Given the description of an element on the screen output the (x, y) to click on. 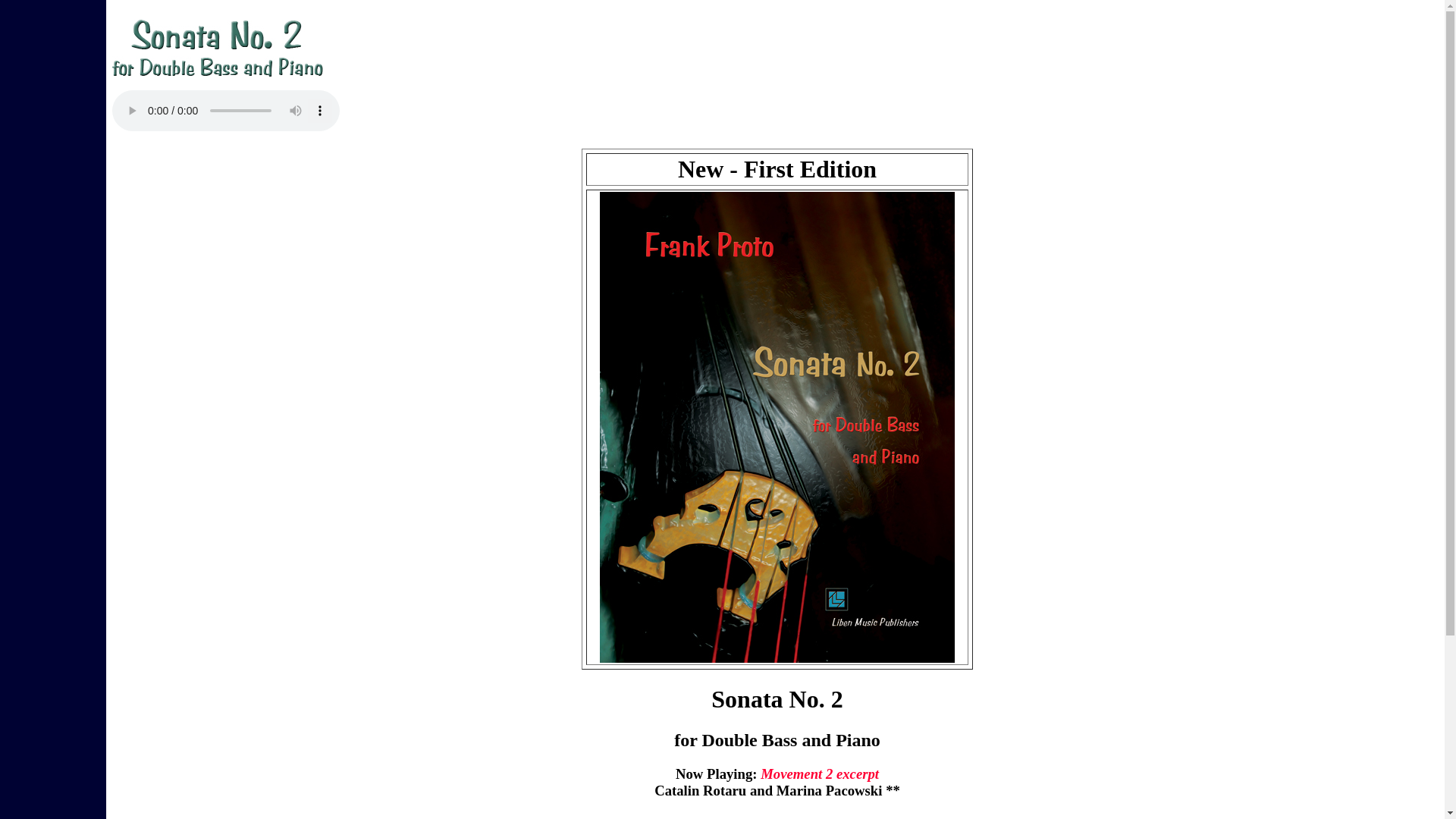
See Reviews (776, 817)
